Given the description of an element on the screen output the (x, y) to click on. 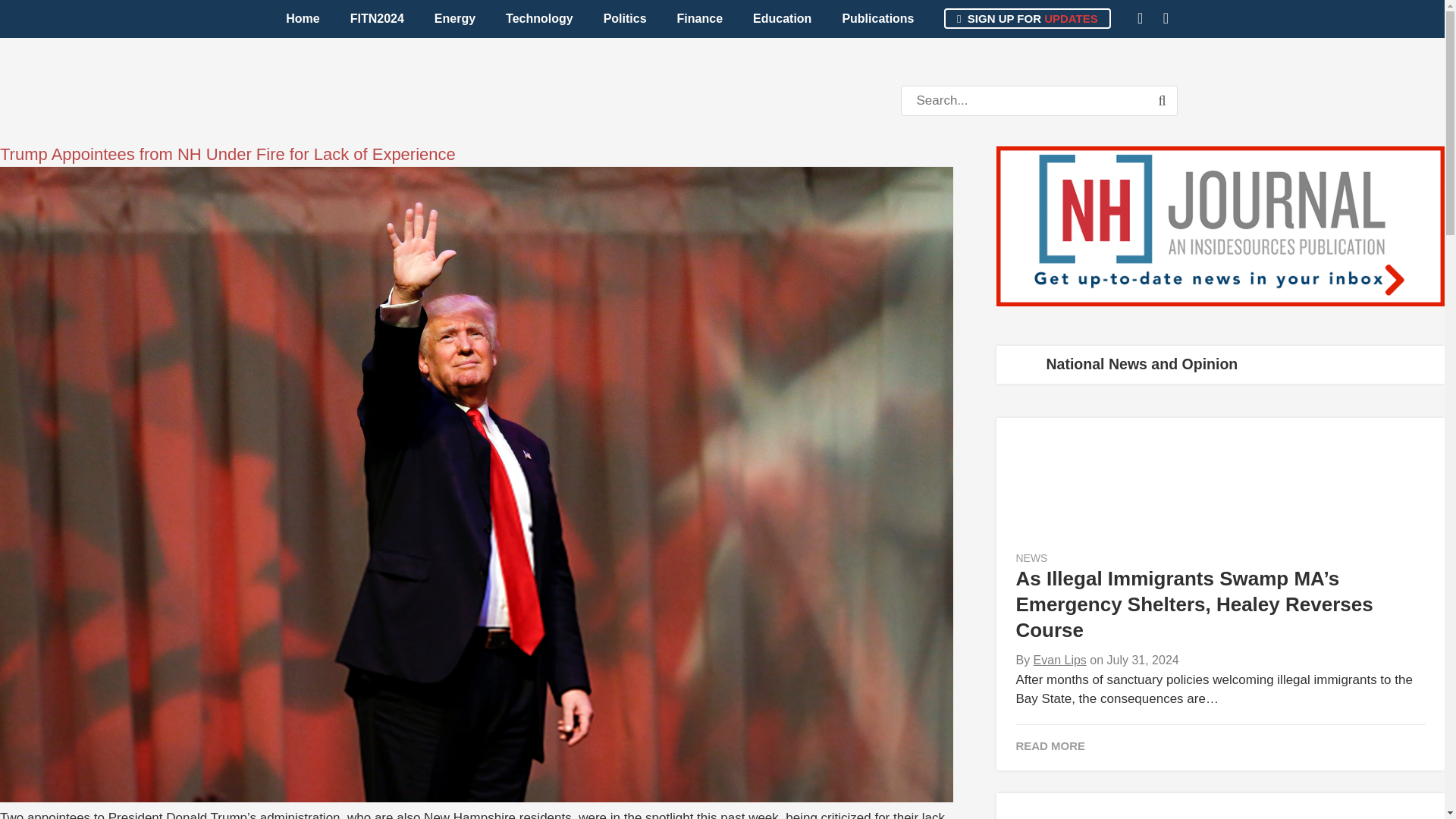
Home (302, 18)
FITN2024 (376, 18)
Politics (625, 18)
Education (782, 18)
Energy (454, 18)
Technology (539, 18)
Publications (877, 18)
Trump Appointees from NH Under Fire for Lack of Experience (227, 153)
Finance (700, 18)
Posts by Evan Lips (1059, 659)
  SIGN UP FOR UPDATES (1026, 18)
